Given the description of an element on the screen output the (x, y) to click on. 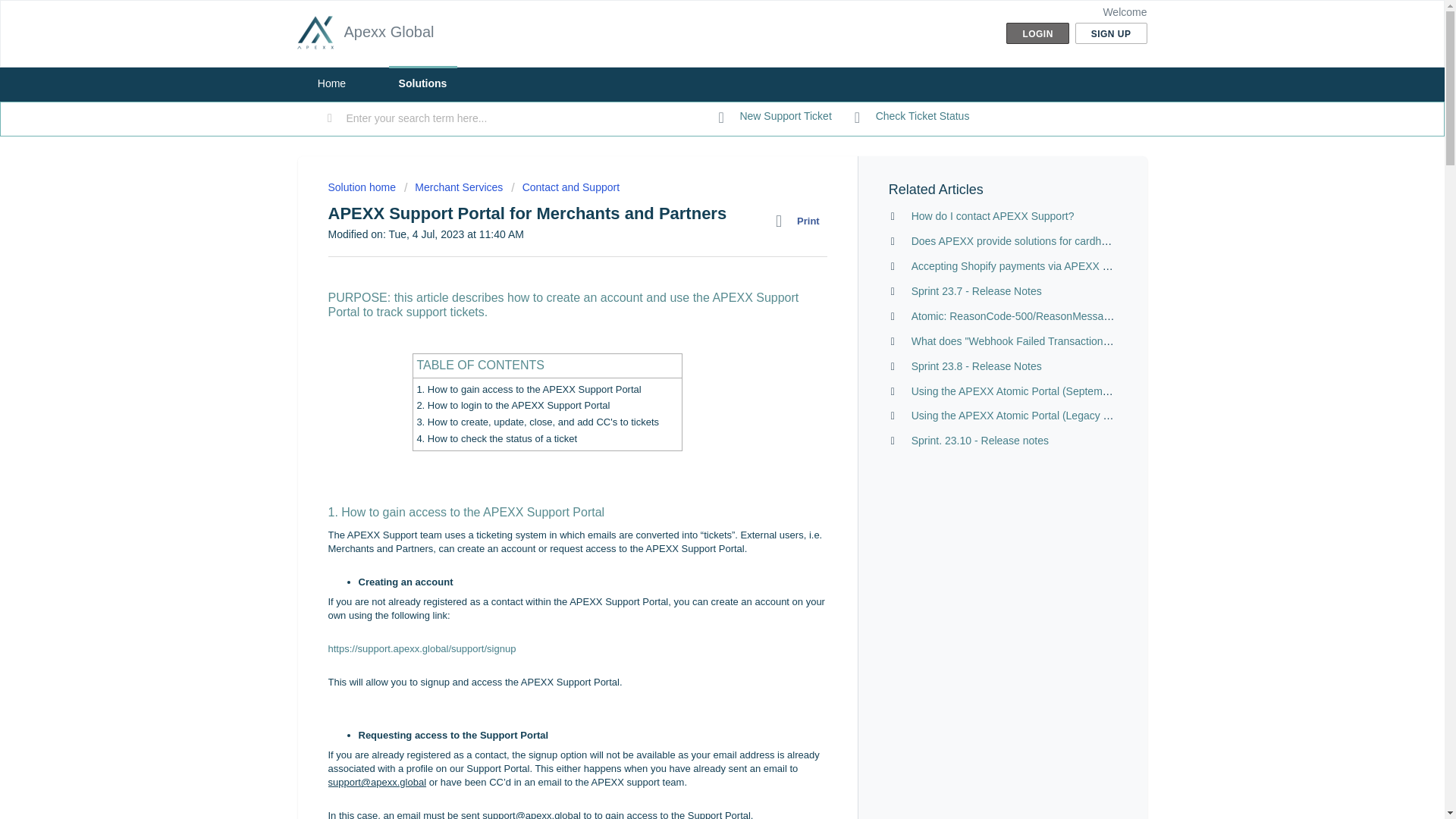
Sprint 23.7 - Release Notes (976, 291)
Print this Article (801, 220)
Accepting Shopify payments via APEXX and Pinwheel Pay (1049, 265)
Print (801, 220)
Home (331, 83)
What does "Webhook Failed Transactions Update" mean? (1048, 340)
Merchant Services (453, 186)
How do I contact APEXX Support? (992, 215)
SIGN UP (1111, 33)
New Support Ticket (775, 116)
